Given the description of an element on the screen output the (x, y) to click on. 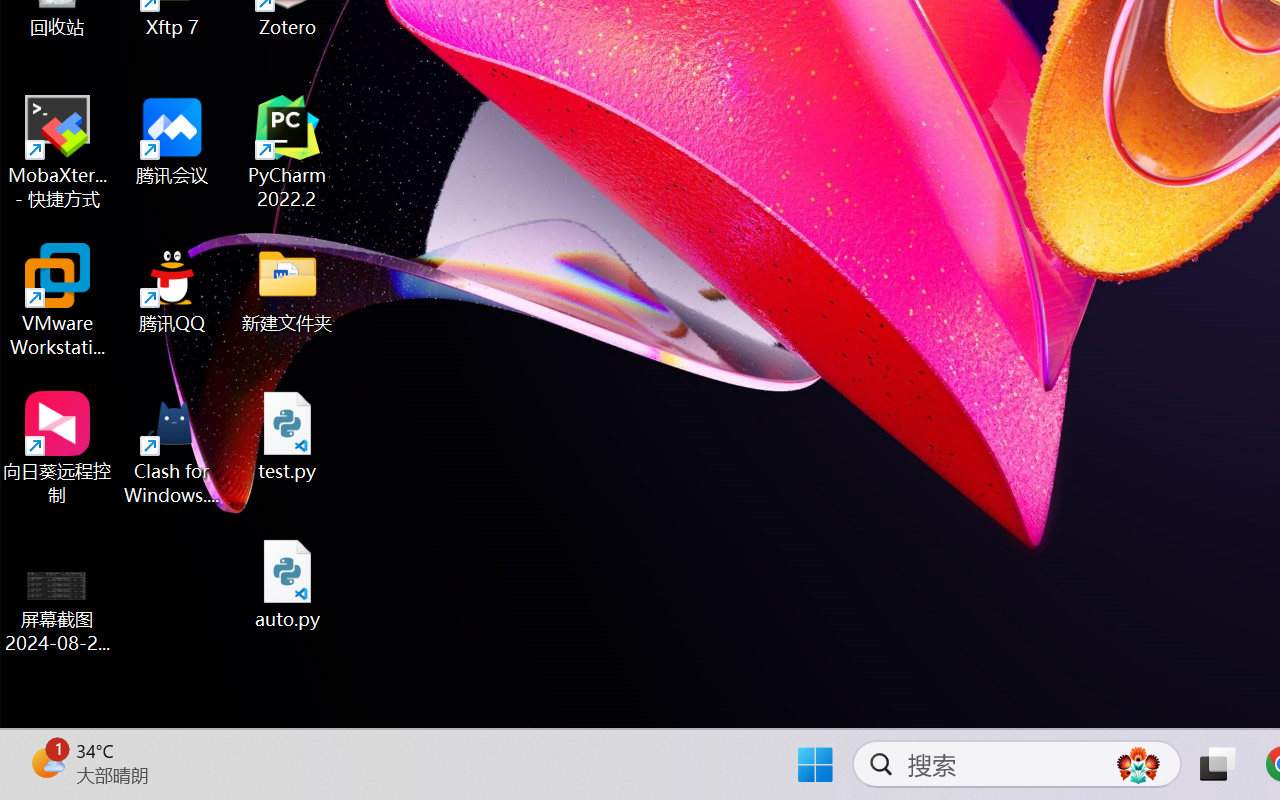
PyCharm 2022.2 (287, 152)
VMware Workstation Pro (57, 300)
auto.py (287, 584)
